Given the description of an element on the screen output the (x, y) to click on. 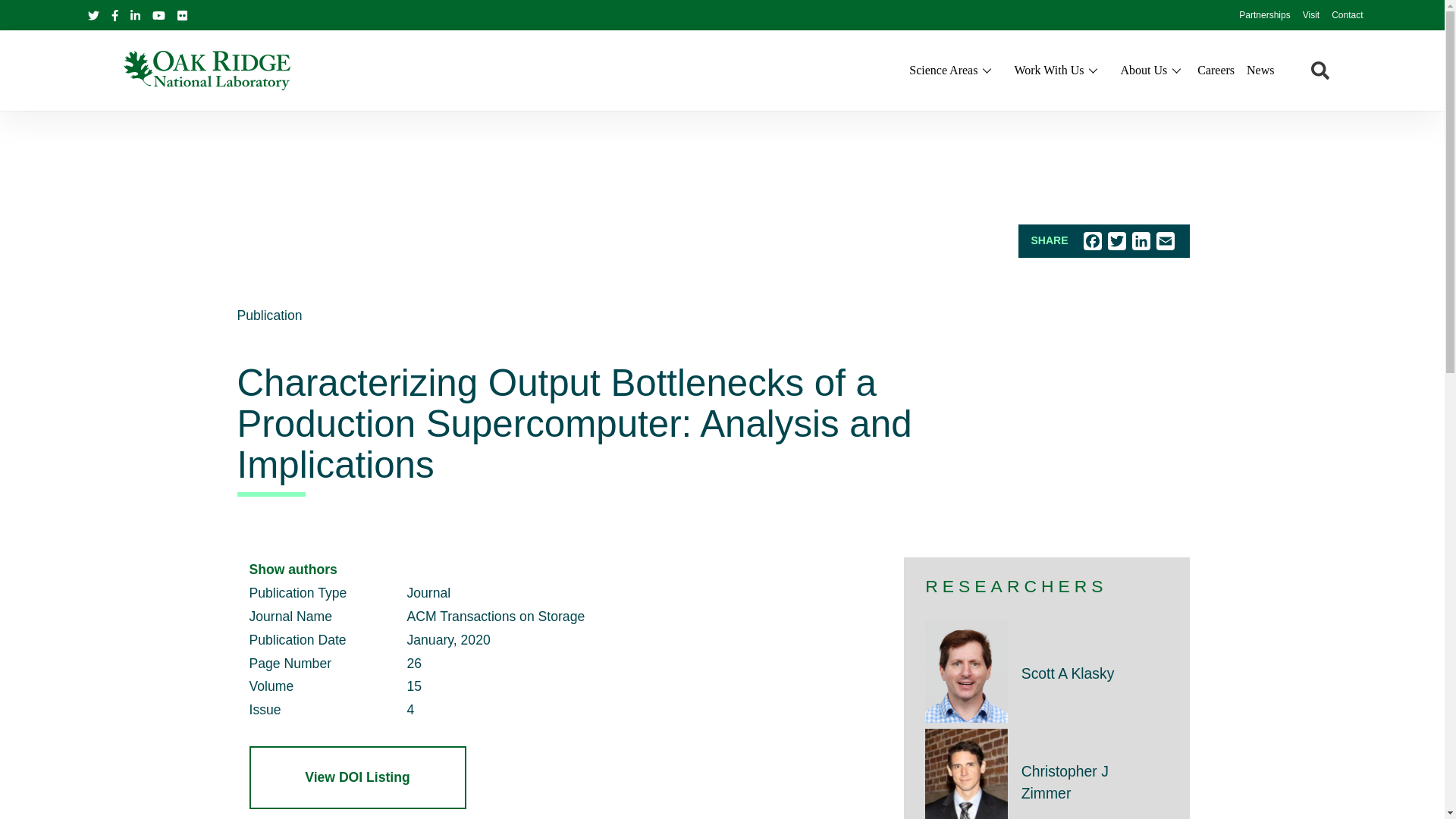
News (1260, 69)
View DOI Listing (356, 777)
flickr (182, 15)
Contact (1347, 15)
Oak Ridge National Laboratory (206, 70)
flickr (182, 14)
Facebook (1091, 240)
Partnerships (1264, 15)
Email (1164, 240)
YouTube (158, 15)
Facebook (113, 14)
Twitter (1115, 240)
YouTube (158, 14)
Show authors (292, 569)
